Given the description of an element on the screen output the (x, y) to click on. 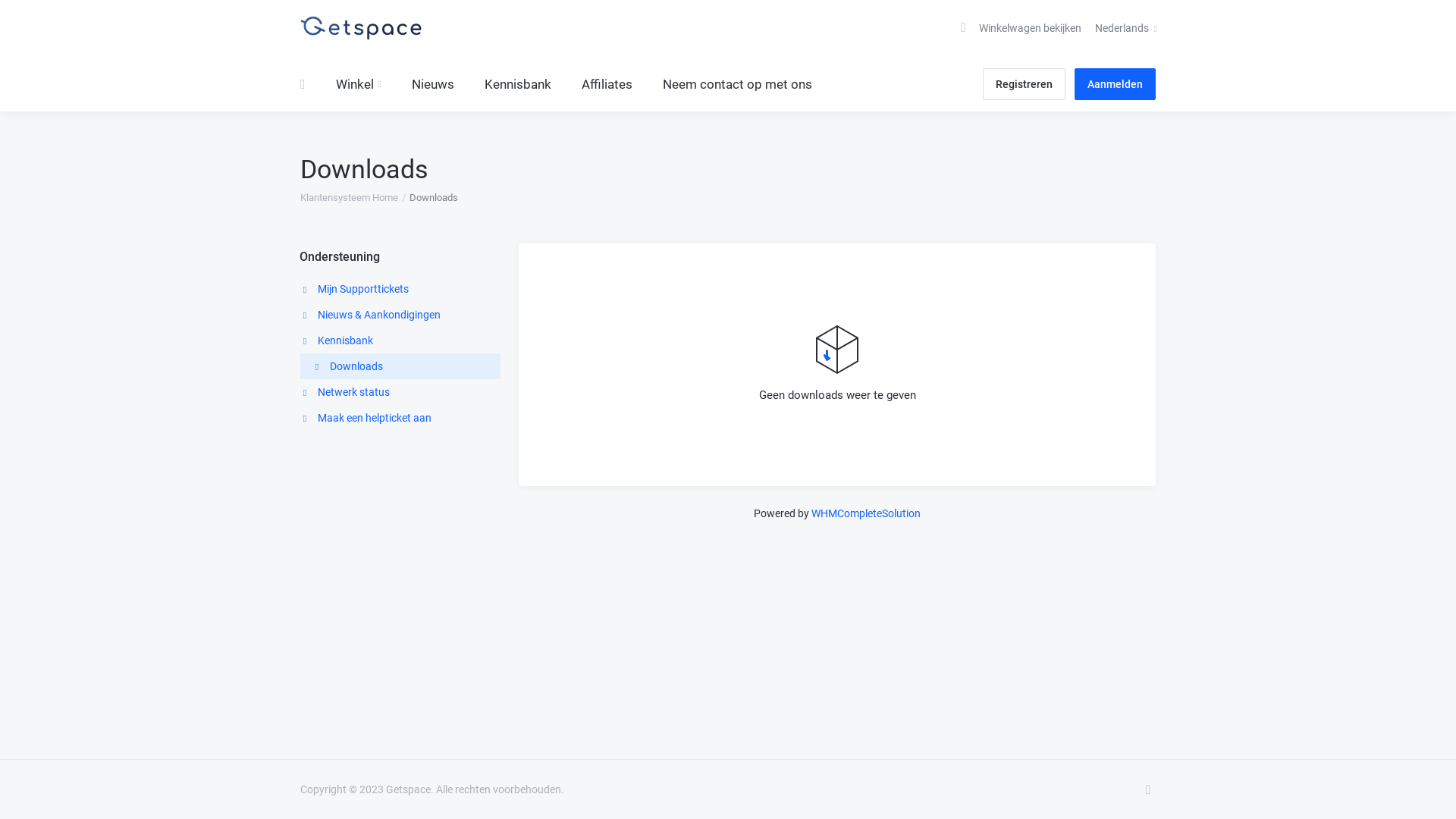
Downloads Element type: text (400, 366)
Nieuws & Aankondigingen Element type: text (400, 314)
Klantensysteem Home Element type: text (349, 197)
Aanmelden Element type: text (1114, 84)
Netwerk status Element type: text (400, 391)
Affiliates Element type: text (606, 84)
Neem contact op met ons Element type: text (737, 84)
Maak een helpticket aan Element type: text (400, 417)
Kennisbank Element type: text (400, 340)
Registreren Element type: text (1023, 84)
Mijn Supporttickets Element type: text (400, 288)
Nieuws Element type: text (432, 84)
Kennisbank Element type: text (517, 84)
Nederlands Element type: text (1125, 27)
Winkelwagen bekijken Element type: text (1018, 27)
Winkel Element type: text (358, 84)
WHMCompleteSolution Element type: text (865, 513)
